Given the description of an element on the screen output the (x, y) to click on. 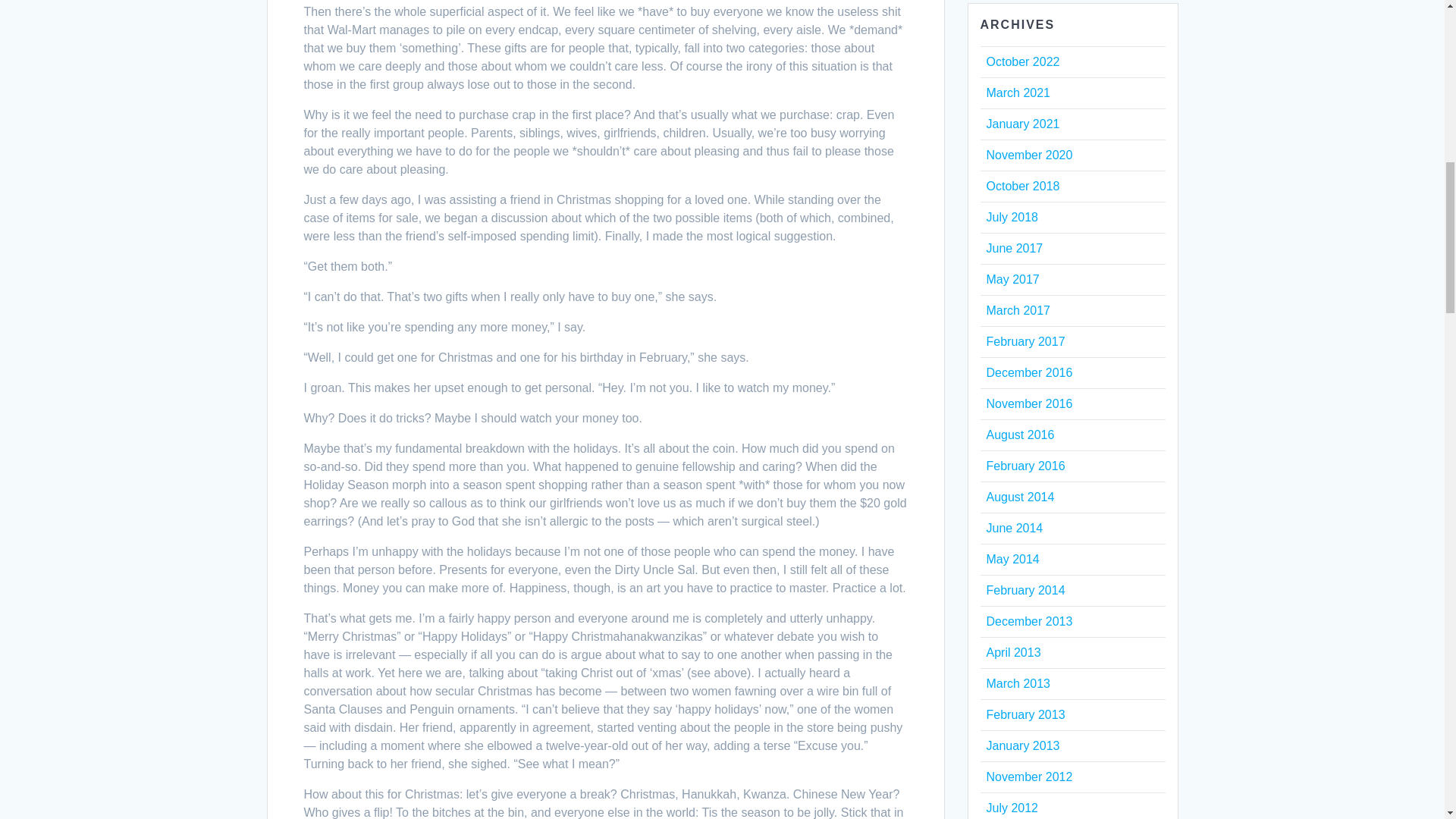
June 2017 (1013, 247)
January 2021 (1022, 123)
March 2021 (1017, 92)
February 2017 (1024, 341)
March 2017 (1017, 309)
May 2017 (1012, 278)
November 2020 (1028, 154)
October 2018 (1022, 185)
December 2016 (1028, 372)
October 2022 (1022, 61)
July 2018 (1011, 216)
